Given the description of an element on the screen output the (x, y) to click on. 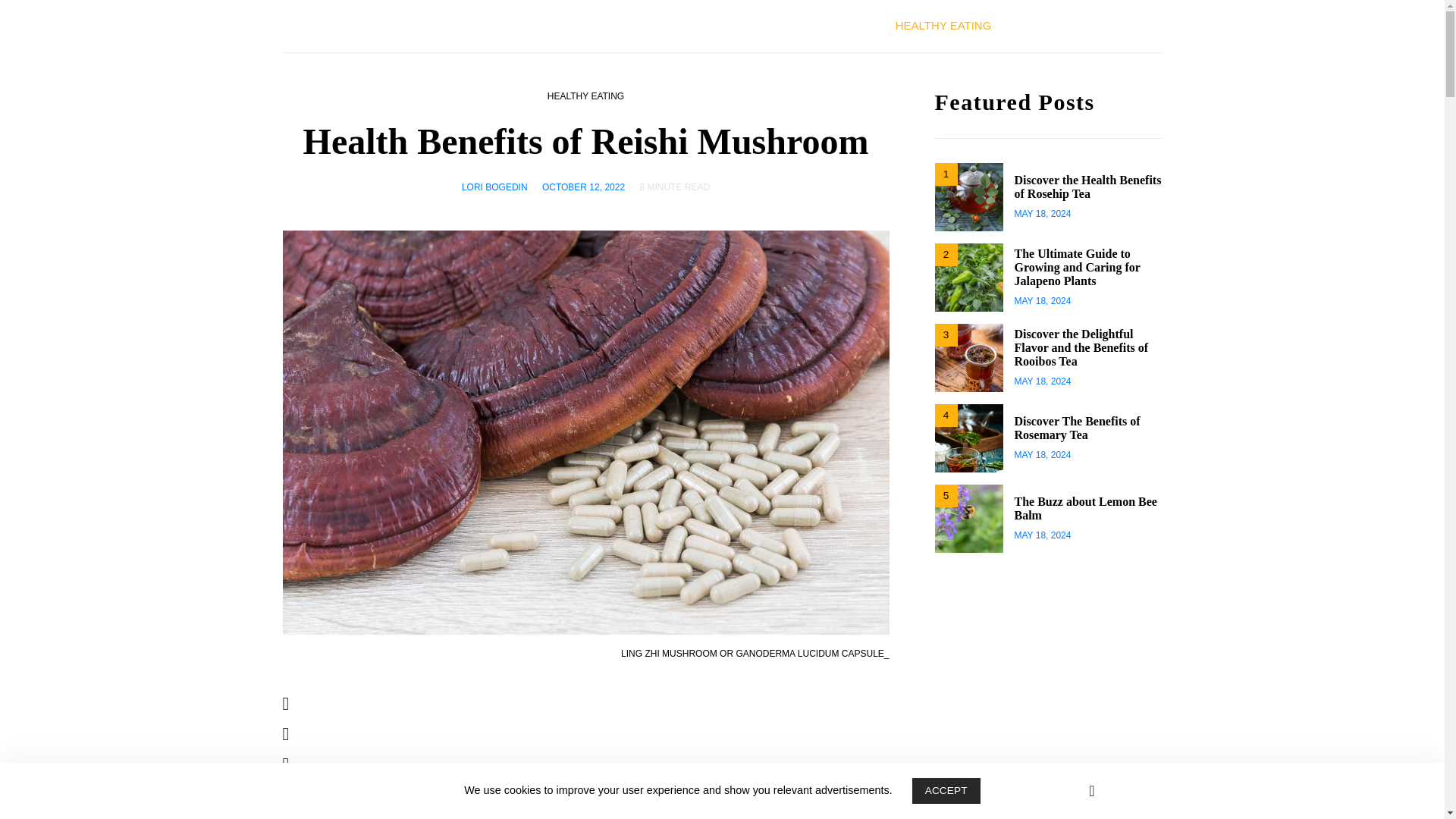
OCTOBER 12, 2022 (582, 186)
RECIPES (1107, 26)
HEALTHY EATING (585, 95)
Advertisement (615, 757)
View all posts by Lori Bogedin (494, 186)
LORI BOGEDIN (494, 186)
EATING IDEAS (831, 26)
HEALTHY EATING (943, 26)
